Given the description of an element on the screen output the (x, y) to click on. 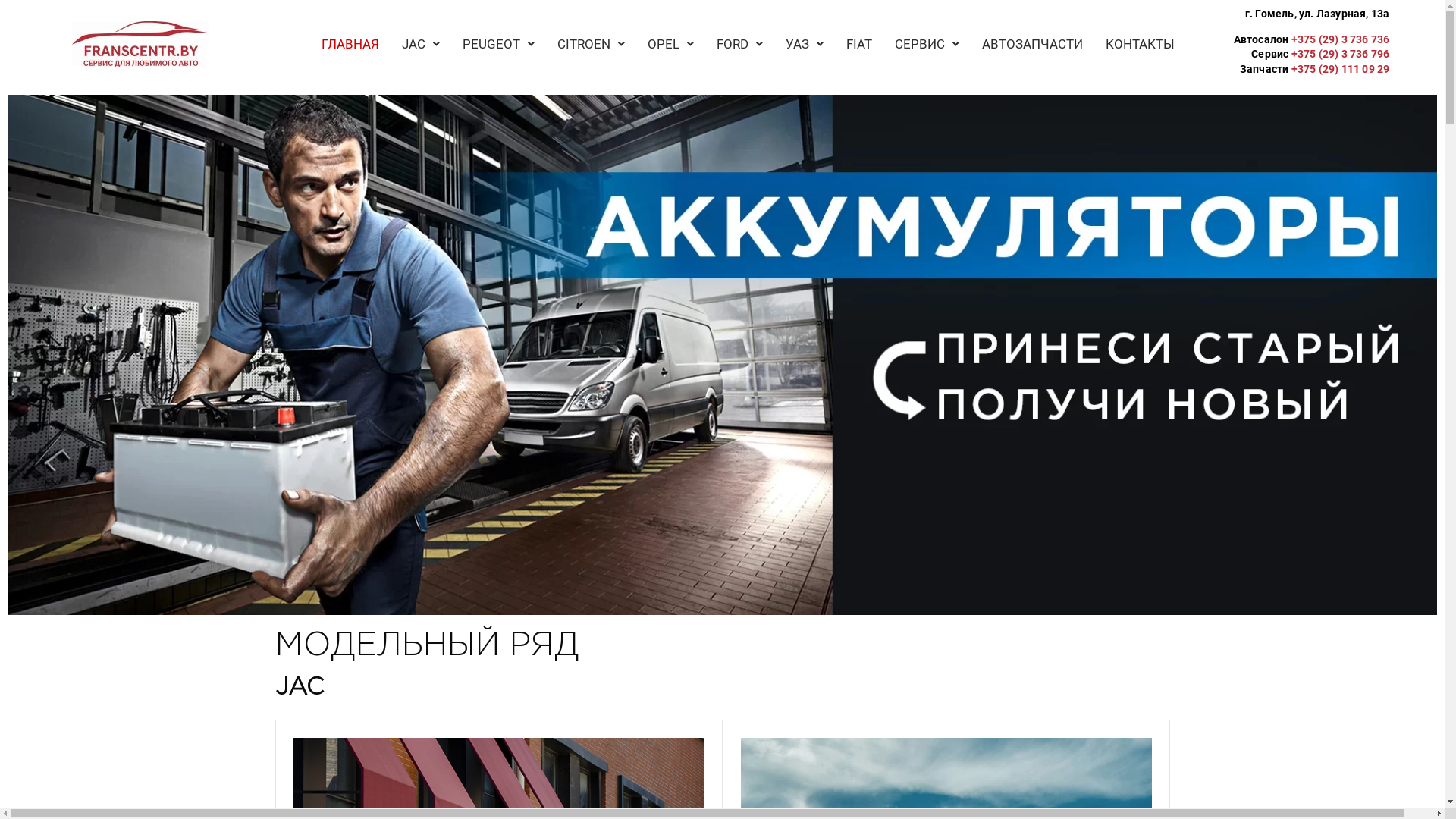
FORD Element type: text (739, 43)
+375 (29) 111 09 29 Element type: text (1340, 68)
+375 (29) 3 736 736 Element type: text (1340, 39)
JAC Element type: text (420, 43)
PEUGEOT Element type: text (498, 43)
+375 (29) 3 736 796 Element type: text (1340, 53)
CITROEN Element type: text (591, 43)
JAC Element type: text (298, 687)
FIAT Element type: text (858, 43)
OPEL Element type: text (670, 43)
